Given the description of an element on the screen output the (x, y) to click on. 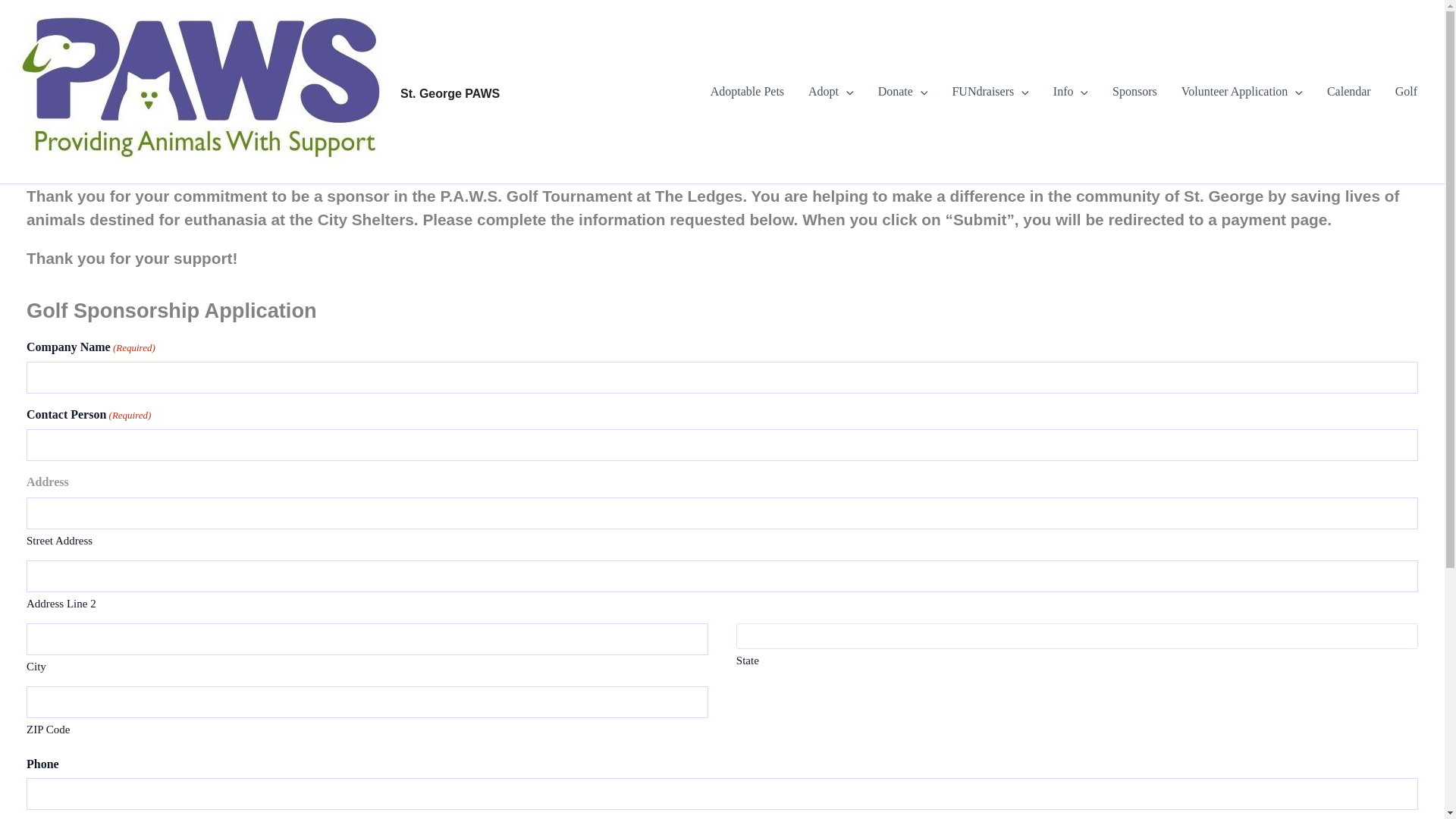
Adopt (831, 91)
Volunteer Application (1241, 91)
Sponsors (1134, 91)
Donate (903, 91)
Calendar (1348, 91)
St. George PAWS (449, 92)
Info (1070, 91)
Adoptable Pets (747, 91)
FUNdraisers (990, 91)
